Given the description of an element on the screen output the (x, y) to click on. 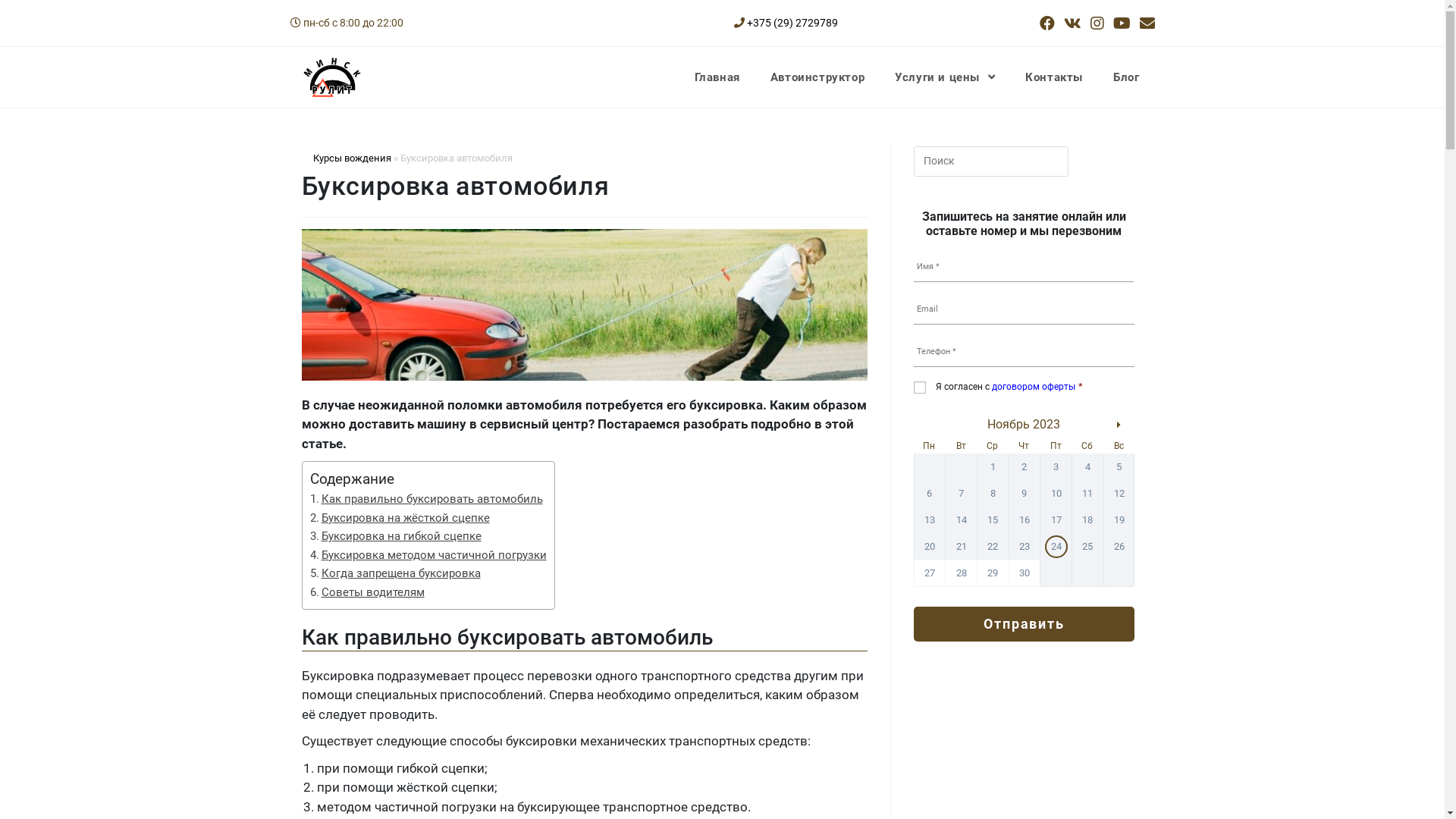
+375 (29) 2729789 Element type: text (791, 22)
